Given the description of an element on the screen output the (x, y) to click on. 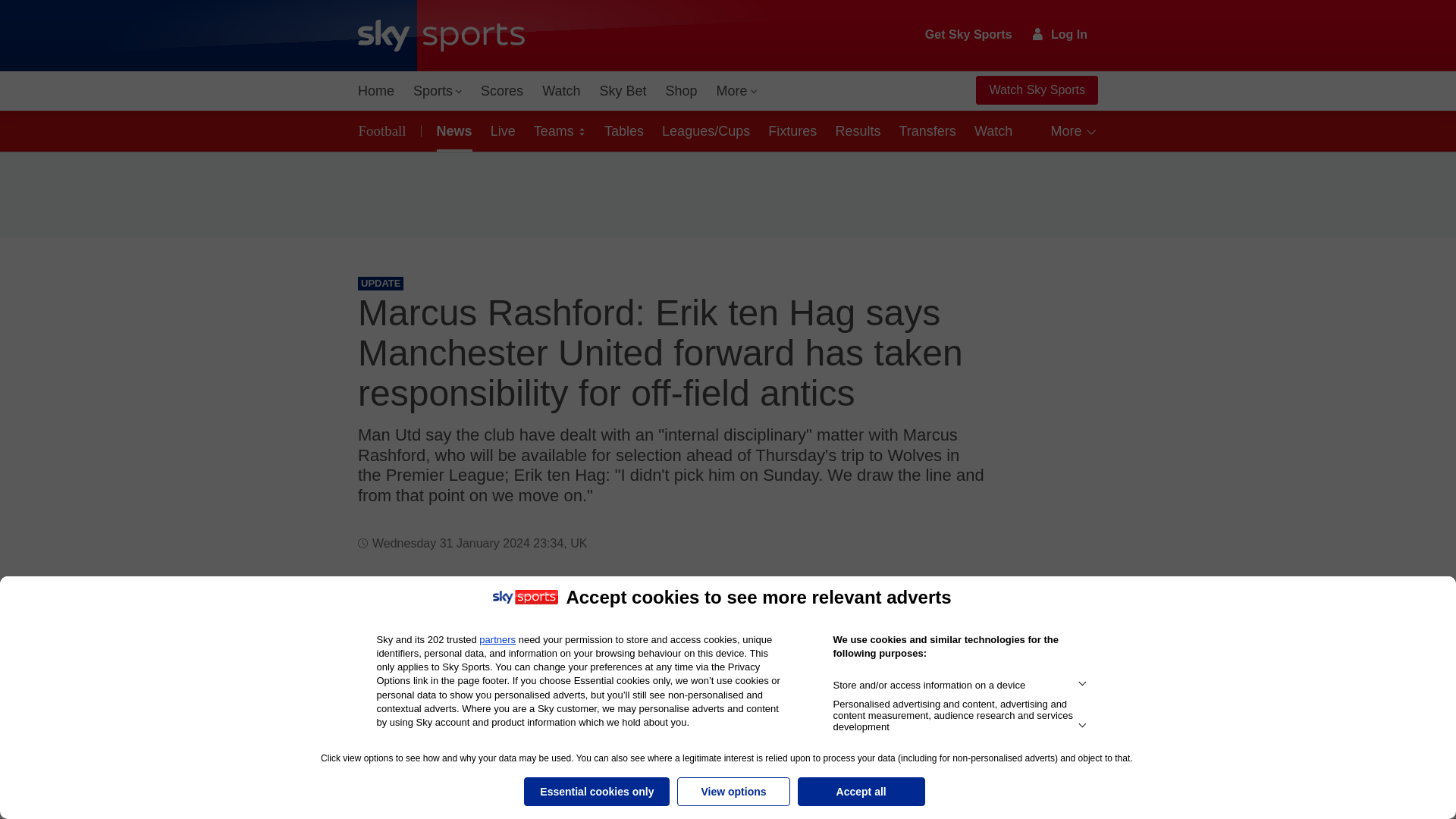
Watch (561, 91)
Watch Sky Sports (1036, 90)
Scores (502, 91)
Log In (1060, 33)
Shop (681, 91)
News (451, 130)
Football (385, 130)
Sports (437, 91)
More (736, 91)
Get Sky Sports (968, 34)
